Given the description of an element on the screen output the (x, y) to click on. 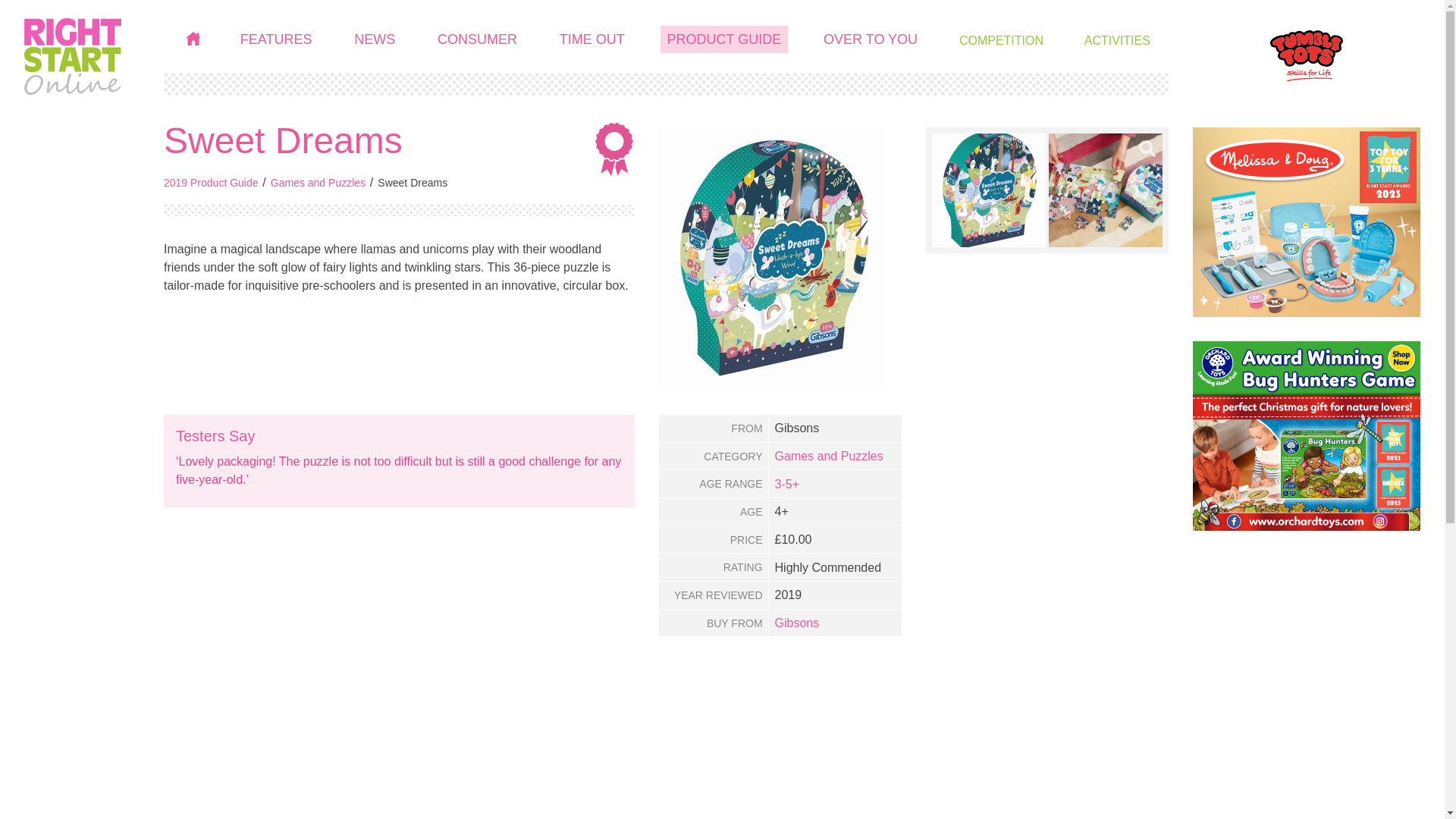
CONSUMER (477, 39)
COMPETITION (1001, 40)
PRODUCT GUIDE (725, 39)
OVER TO YOU (870, 39)
2019 Product Guide (211, 182)
TIME OUT (592, 39)
G1030 Sweet Dreams Box Rgb (988, 190)
Games and Puzzles (828, 455)
Games and Puzzles (317, 182)
FEATURES (275, 39)
HOME (193, 39)
NEWS (374, 39)
Gibsons (796, 622)
G1030 Sweet Dreams Lifestyle Rgb (1104, 190)
ACTIVITIES (1117, 40)
